Given the description of an element on the screen output the (x, y) to click on. 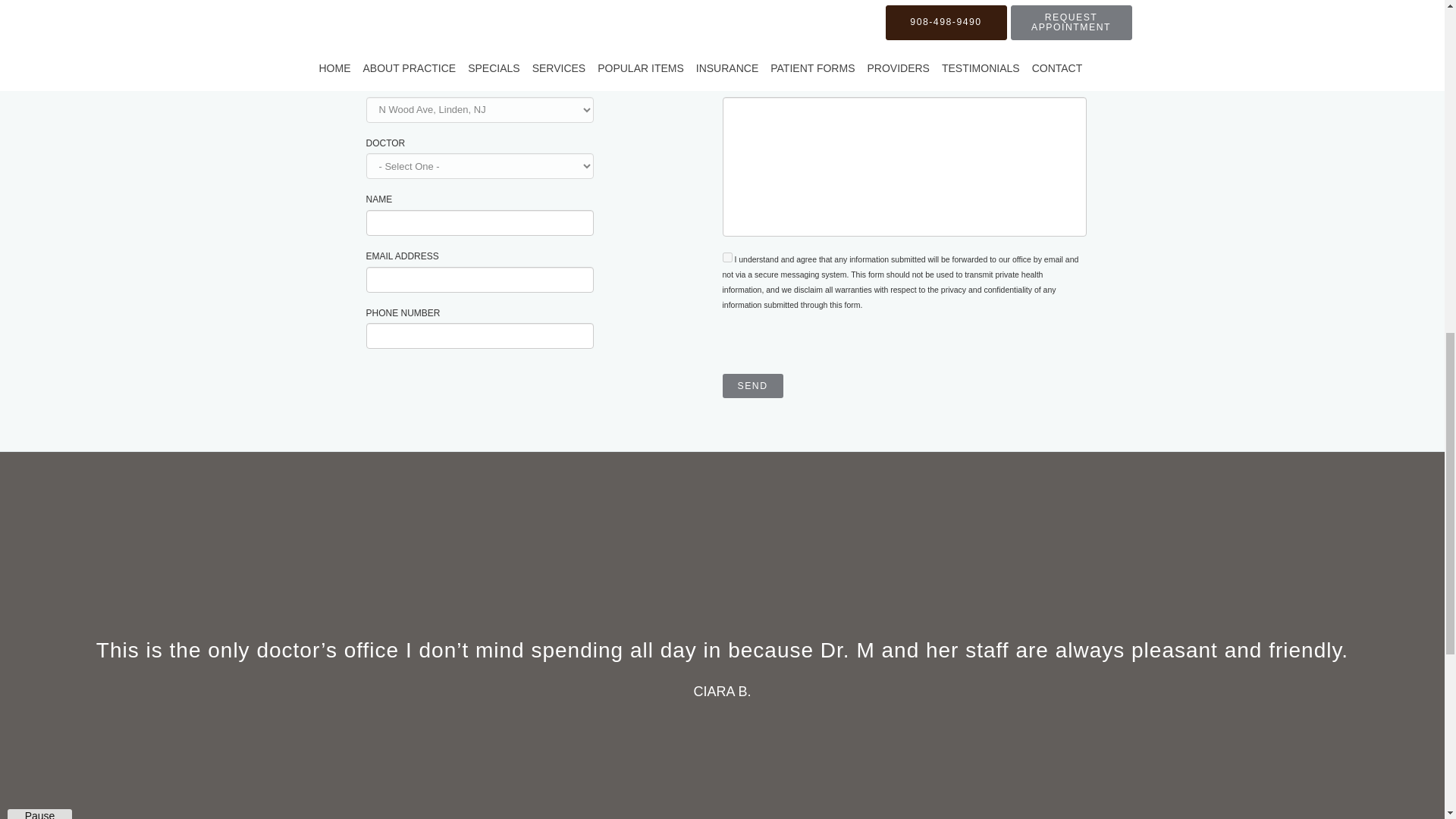
SEND (752, 385)
on (727, 257)
